Given the description of an element on the screen output the (x, y) to click on. 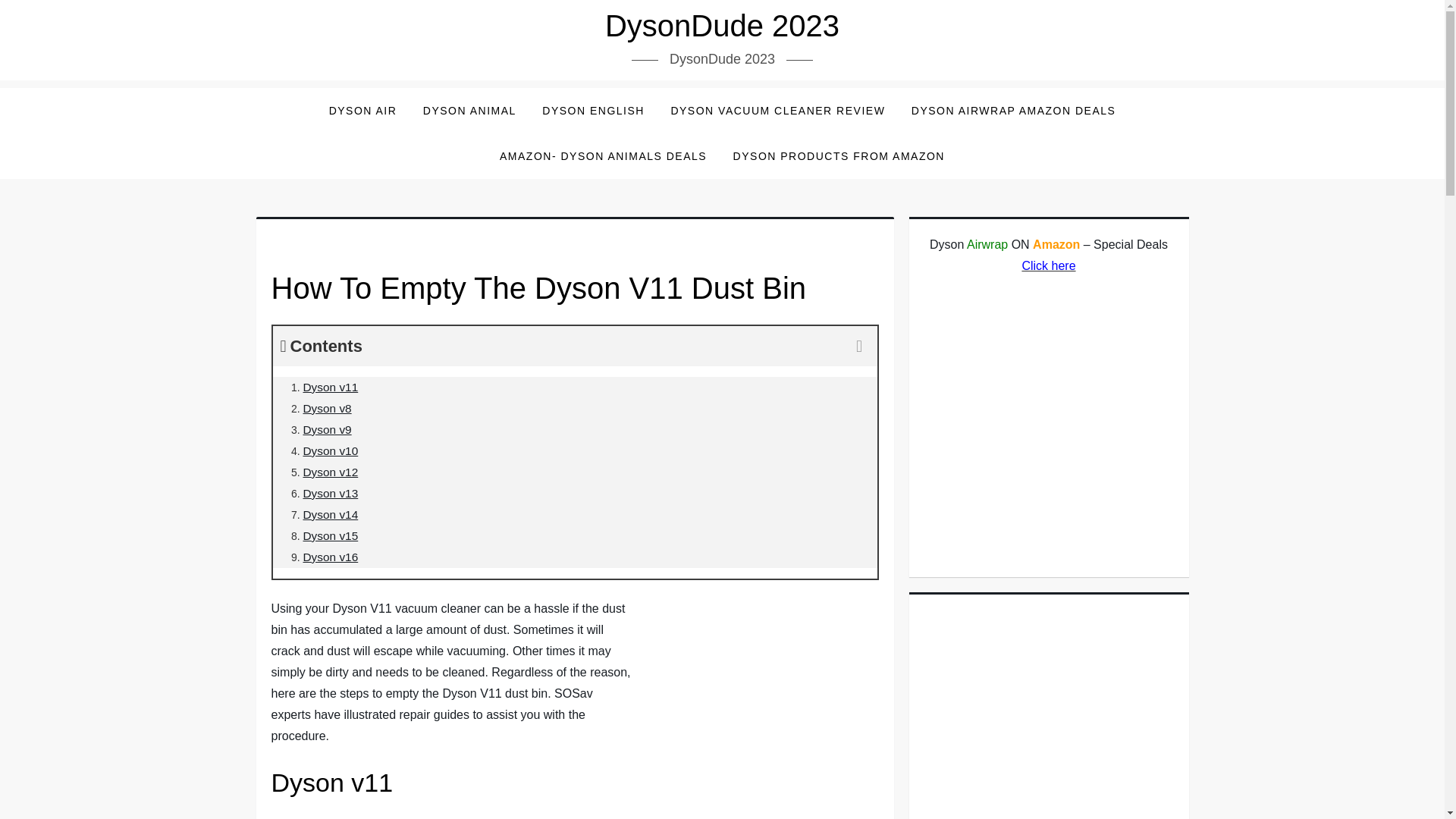
Dyson v13 (330, 493)
Click here (1048, 265)
DYSON VACUUM CLEANER REVIEW (777, 110)
DysonDude 2023 (722, 25)
Dyson v15 (330, 535)
Dyson v9 (327, 429)
DYSON ENGLISH (593, 110)
Dyson v8 (327, 408)
DYSON ANIMAL (469, 110)
DYSON AIRWRAP AMAZON DEALS (1012, 110)
